Given the description of an element on the screen output the (x, y) to click on. 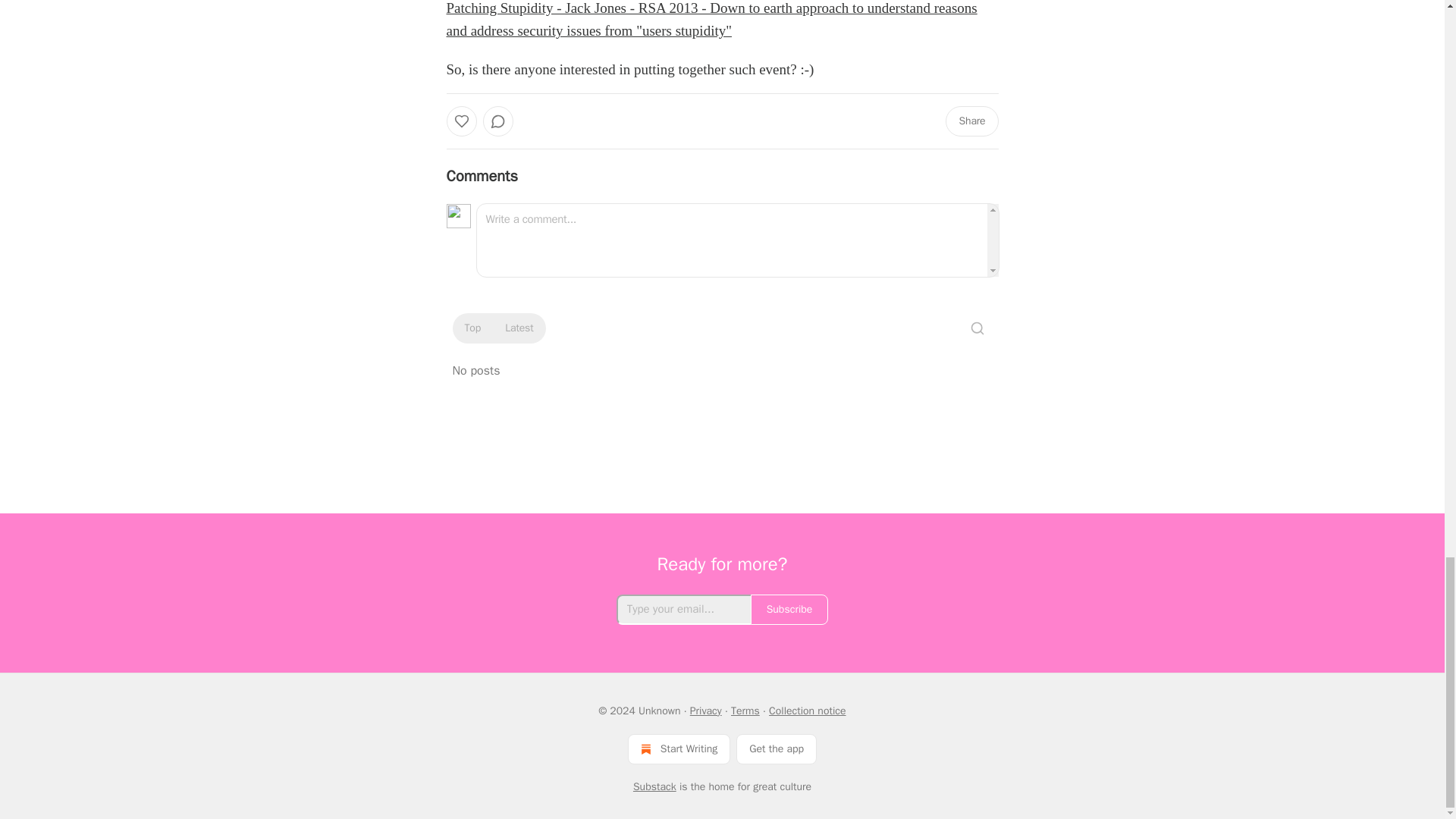
Top (471, 328)
Share (970, 121)
Latest (518, 328)
